Given the description of an element on the screen output the (x, y) to click on. 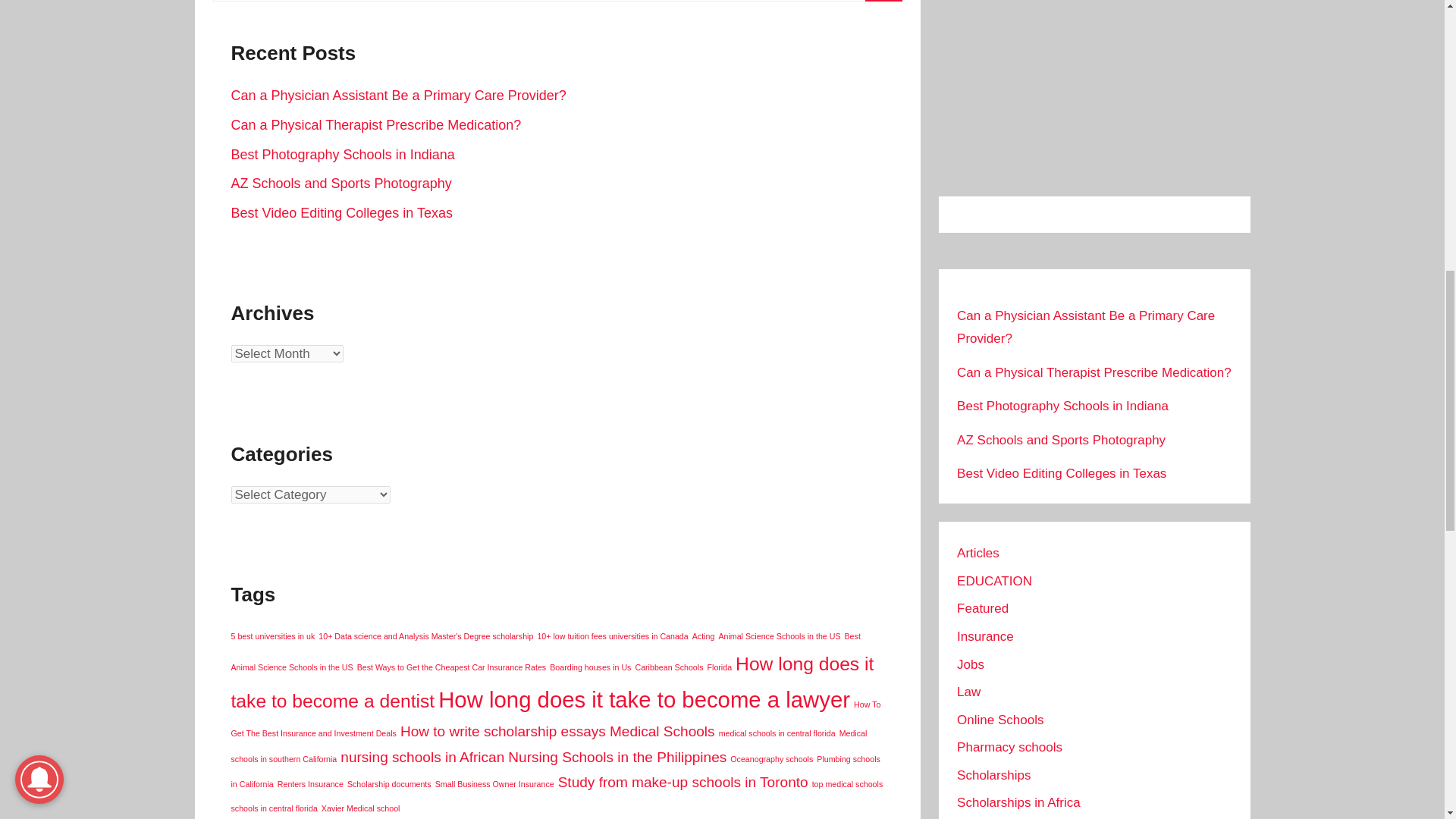
AZ Schools and Sports Photography (340, 183)
nursing schools in African (421, 756)
How long does it take to become a lawyer (644, 699)
Boarding houses in Us (590, 666)
Search (883, 0)
Acting (703, 635)
Best Photography Schools in Indiana (342, 154)
Animal Science Schools in the US (778, 635)
Best Video Editing Colleges in Texas (341, 212)
Advertisement (1094, 89)
